Given the description of an element on the screen output the (x, y) to click on. 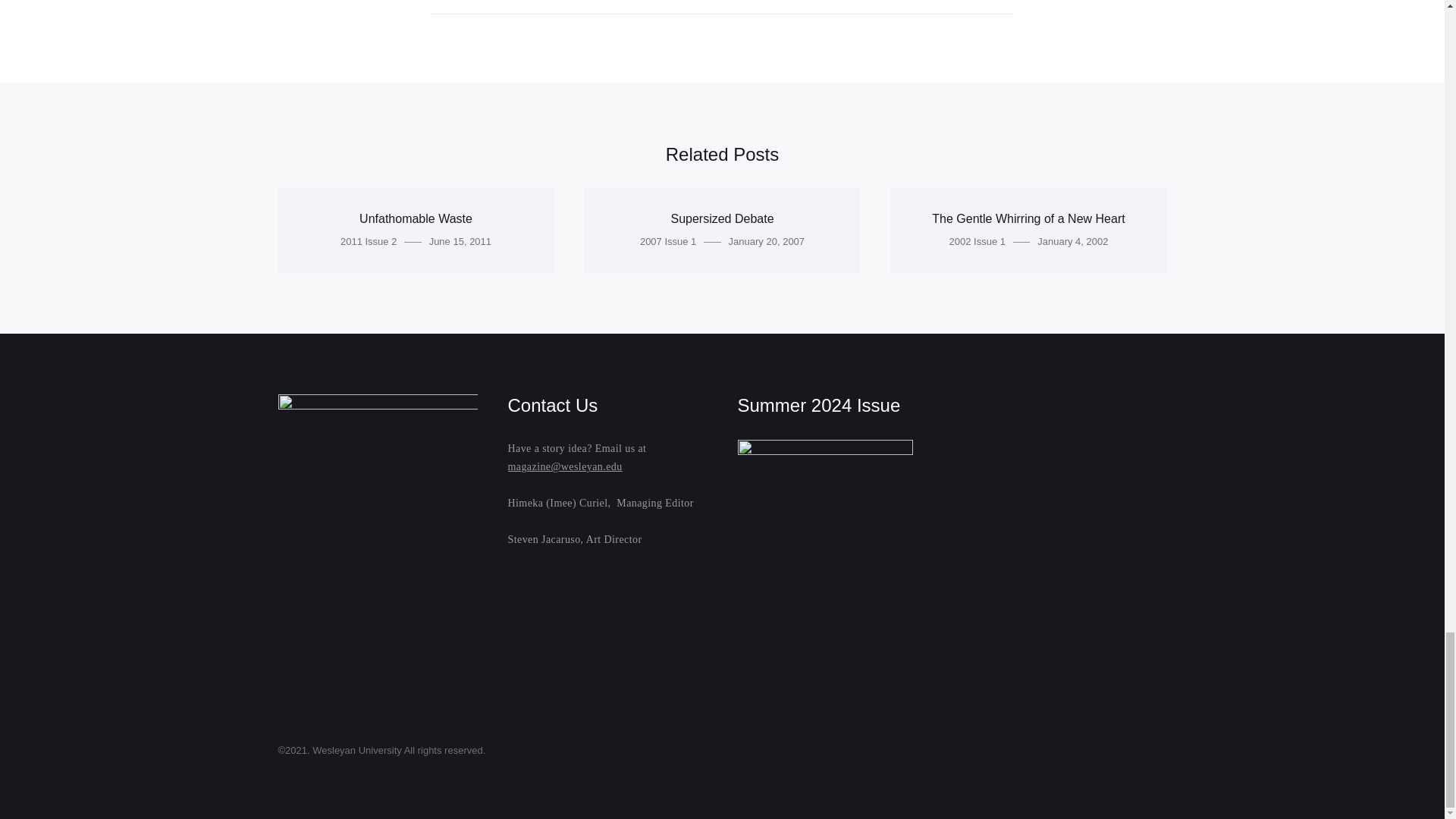
Unfathomable Waste (415, 218)
2002 Issue 1 (977, 241)
The Gentle Whirring of a New Heart (1027, 218)
Supersized Debate (721, 218)
2011 Issue 2 (368, 241)
2007 Issue 1 (667, 241)
